Given the description of an element on the screen output the (x, y) to click on. 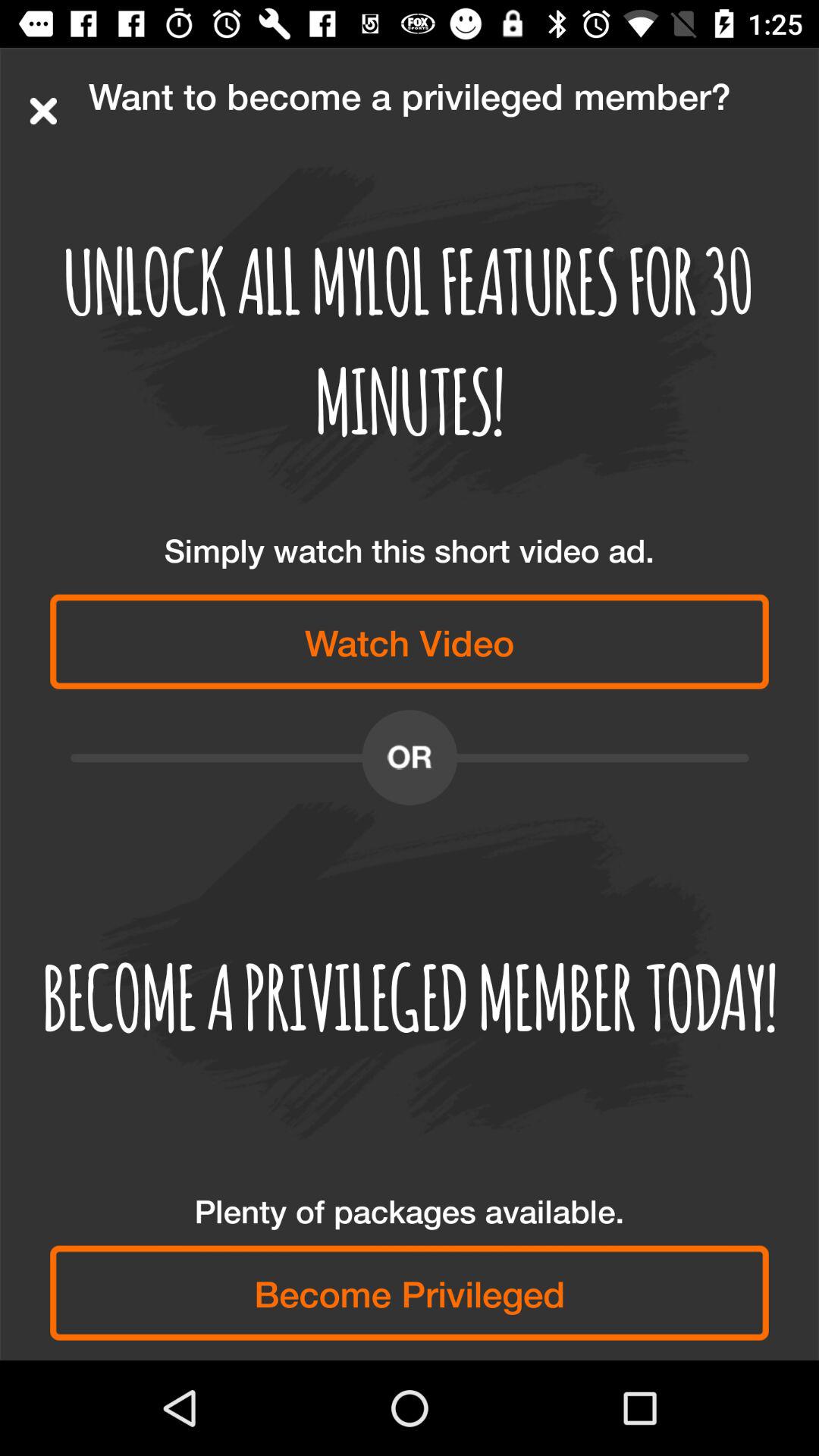
click icon to the left of the want to become (43, 110)
